Given the description of an element on the screen output the (x, y) to click on. 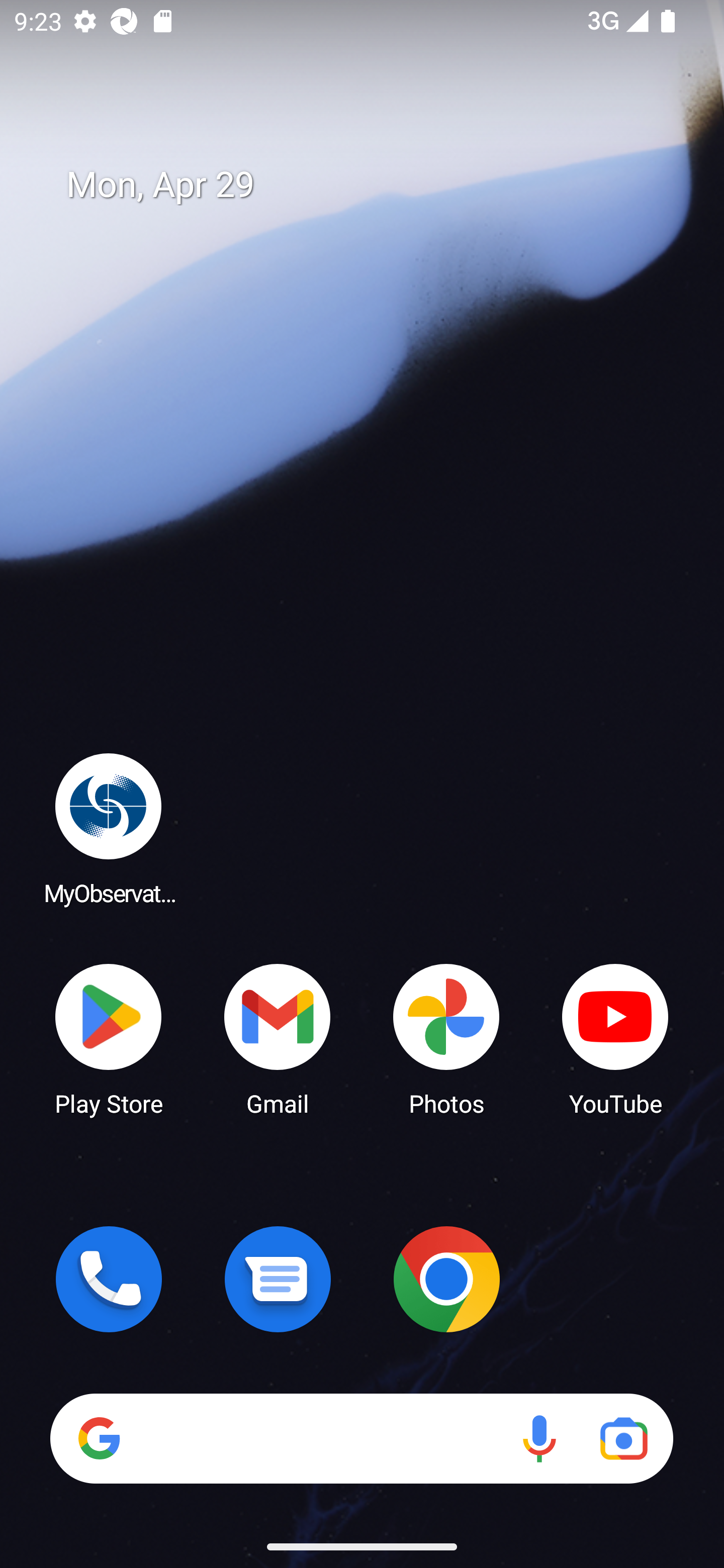
Mon, Apr 29 (375, 184)
MyObservatory (108, 828)
Play Store (108, 1038)
Gmail (277, 1038)
Photos (445, 1038)
YouTube (615, 1038)
Phone (108, 1279)
Messages (277, 1279)
Chrome (446, 1279)
Voice search (539, 1438)
Google Lens (623, 1438)
